Given the description of an element on the screen output the (x, y) to click on. 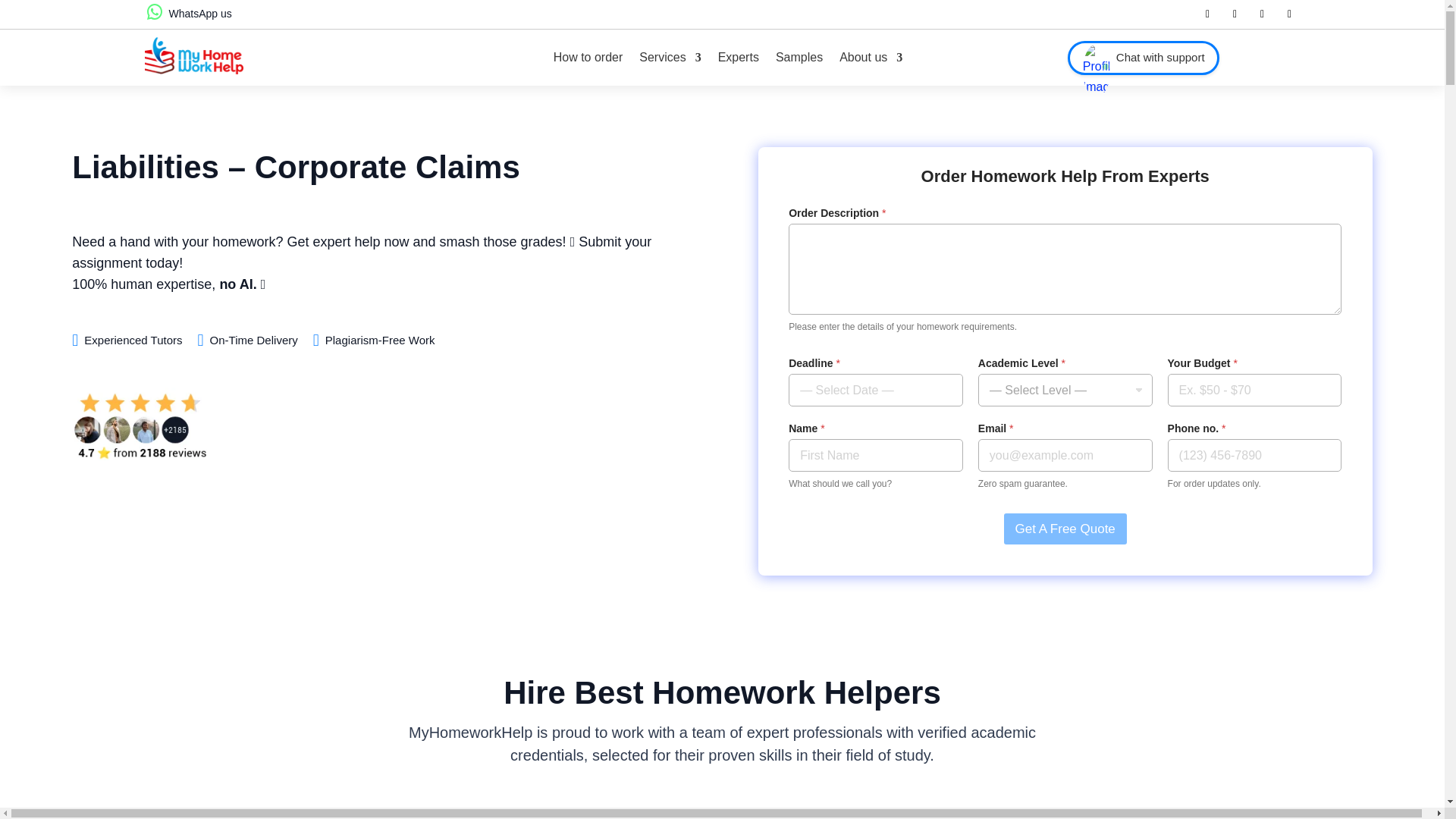
univ logos-2 (964, 813)
Services (669, 57)
Follow on Instagram (1289, 14)
Hero-Logo (193, 55)
Follow on Facebook (1206, 14)
Follow on X (1234, 14)
social reviews (139, 393)
How to order (588, 57)
Follow on LinkedIn (1261, 14)
univ logos-1 (721, 813)
